Given the description of an element on the screen output the (x, y) to click on. 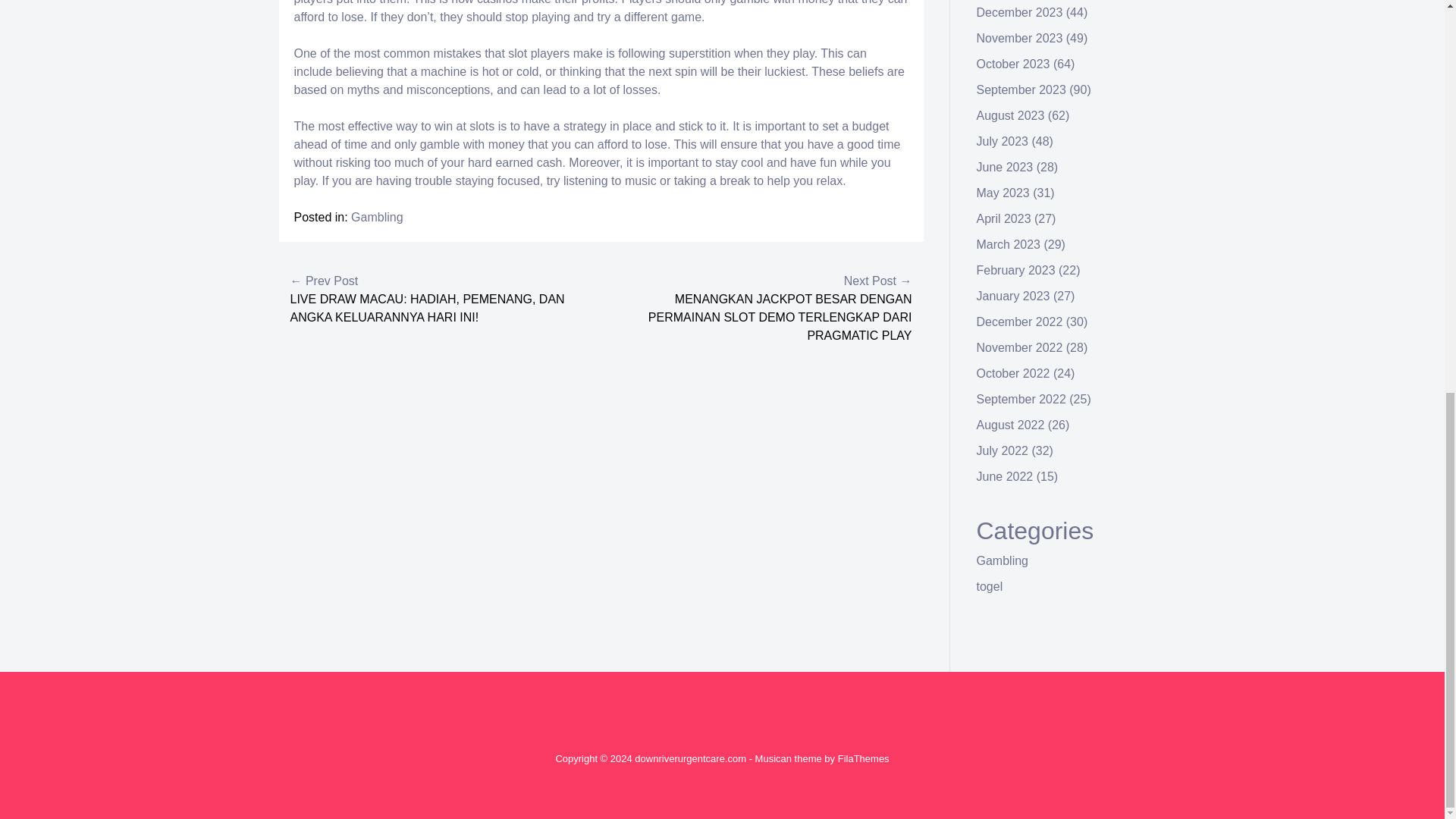
August 2022 (1010, 424)
December 2022 (1019, 321)
May 2023 (1002, 192)
July 2022 (1002, 450)
downriverurgentcare.com (689, 758)
November 2022 (1019, 347)
October 2023 (1012, 63)
December 2023 (1019, 11)
July 2023 (1002, 141)
March 2023 (1008, 244)
June 2023 (1004, 166)
Gambling (376, 216)
January 2023 (1012, 295)
February 2023 (1015, 269)
April 2023 (1003, 218)
